Given the description of an element on the screen output the (x, y) to click on. 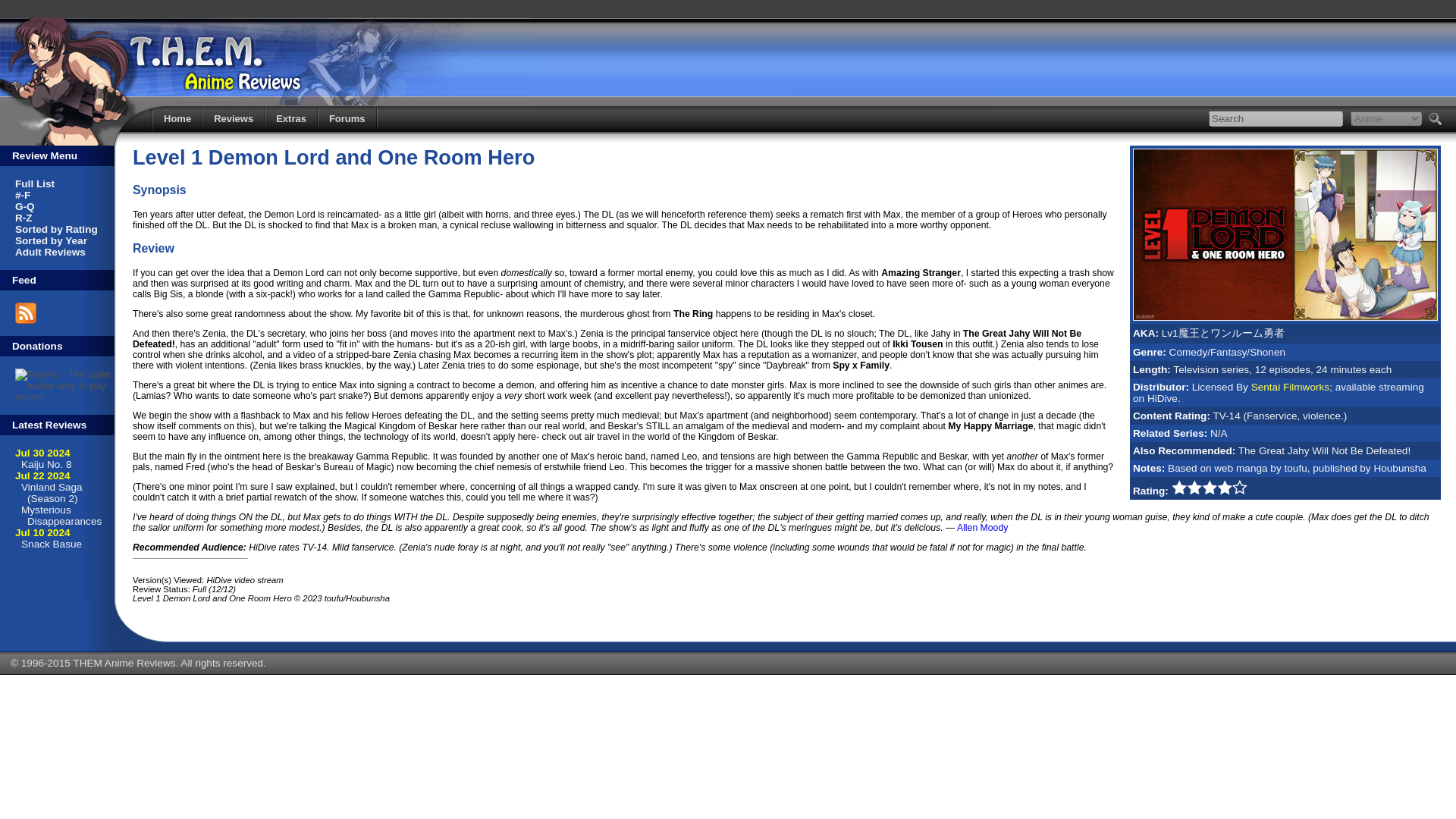
G-Q (24, 206)
Snack Basue (51, 543)
Sentai Filmworks (1290, 387)
Sorted by Year (50, 240)
Kaiju No. 8 (46, 464)
Full List (34, 183)
Home (176, 118)
Search (1275, 118)
Reviews (233, 118)
Forums (347, 118)
